Given the description of an element on the screen output the (x, y) to click on. 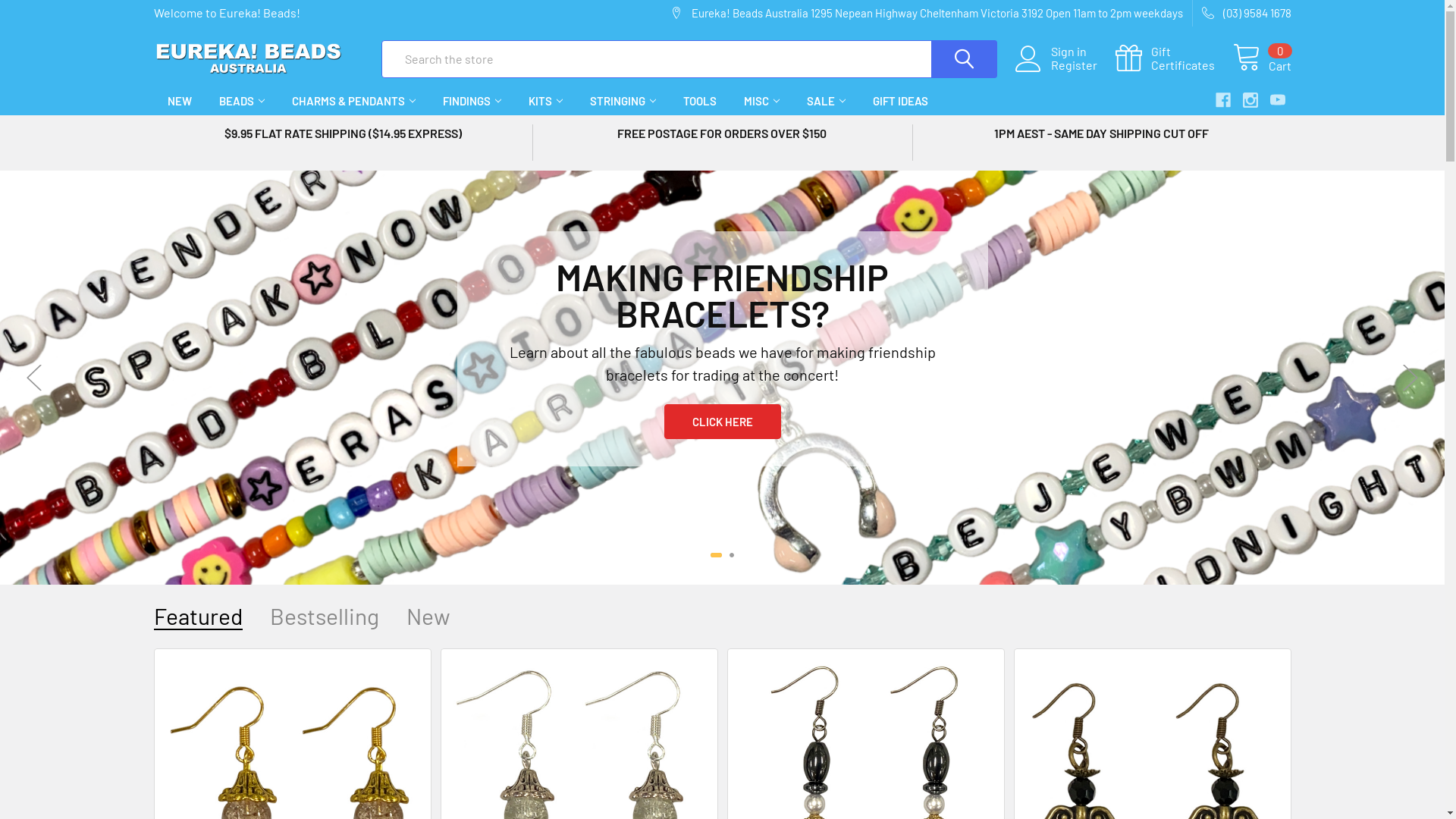
(03) 9584 1678 Element type: text (1241, 13)
NEW Element type: text (178, 101)
EUREKA! BEADS Element type: hover (247, 58)
Cart
0 Element type: text (1262, 58)
Featured Element type: text (197, 615)
Register Element type: text (1083, 65)
STRINGING Element type: text (622, 101)
CLEARANCE SEED BEADS
Huge range, low prices
$1.60 PER 25G Element type: text (722, 377)
Bestselling Element type: text (324, 615)
1 Element type: text (712, 554)
Sign in Element type: text (1083, 51)
KITS Element type: text (544, 101)
SALE Element type: text (826, 101)
Search Element type: text (951, 58)
Previous Element type: text (33, 377)
CHARMS & PENDANTS Element type: text (352, 101)
MISC Element type: text (760, 101)
Next Element type: text (1410, 377)
BEADS Element type: text (240, 101)
2 Element type: text (728, 554)
FINDINGS Element type: text (471, 101)
GIFT IDEAS Element type: text (899, 101)
TOOLS Element type: text (698, 101)
New Element type: text (428, 615)
Gift
Certificates Element type: text (1173, 58)
